Given the description of an element on the screen output the (x, y) to click on. 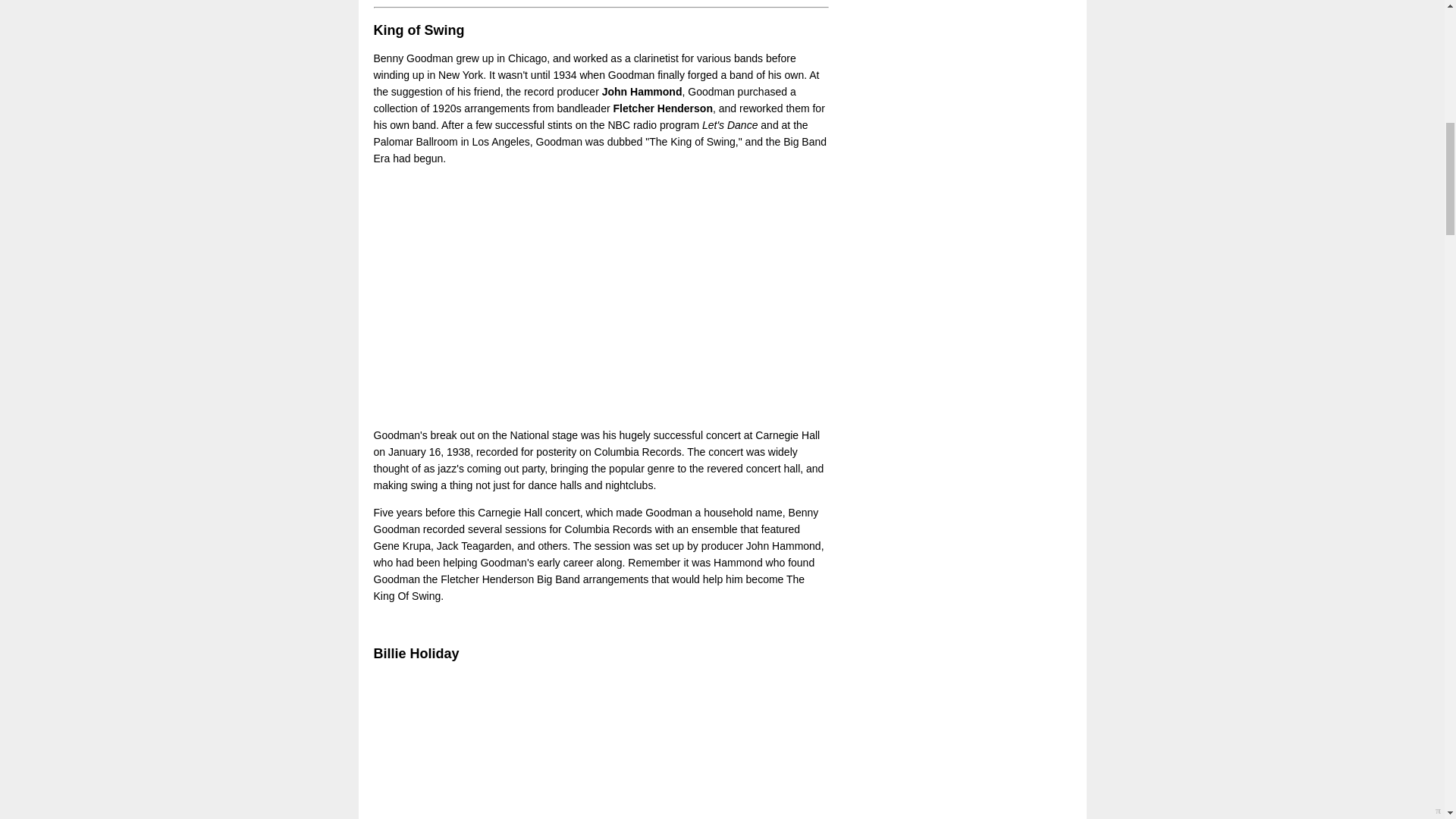
YouTube video player (584, 296)
YouTube video player (584, 746)
